Given the description of an element on the screen output the (x, y) to click on. 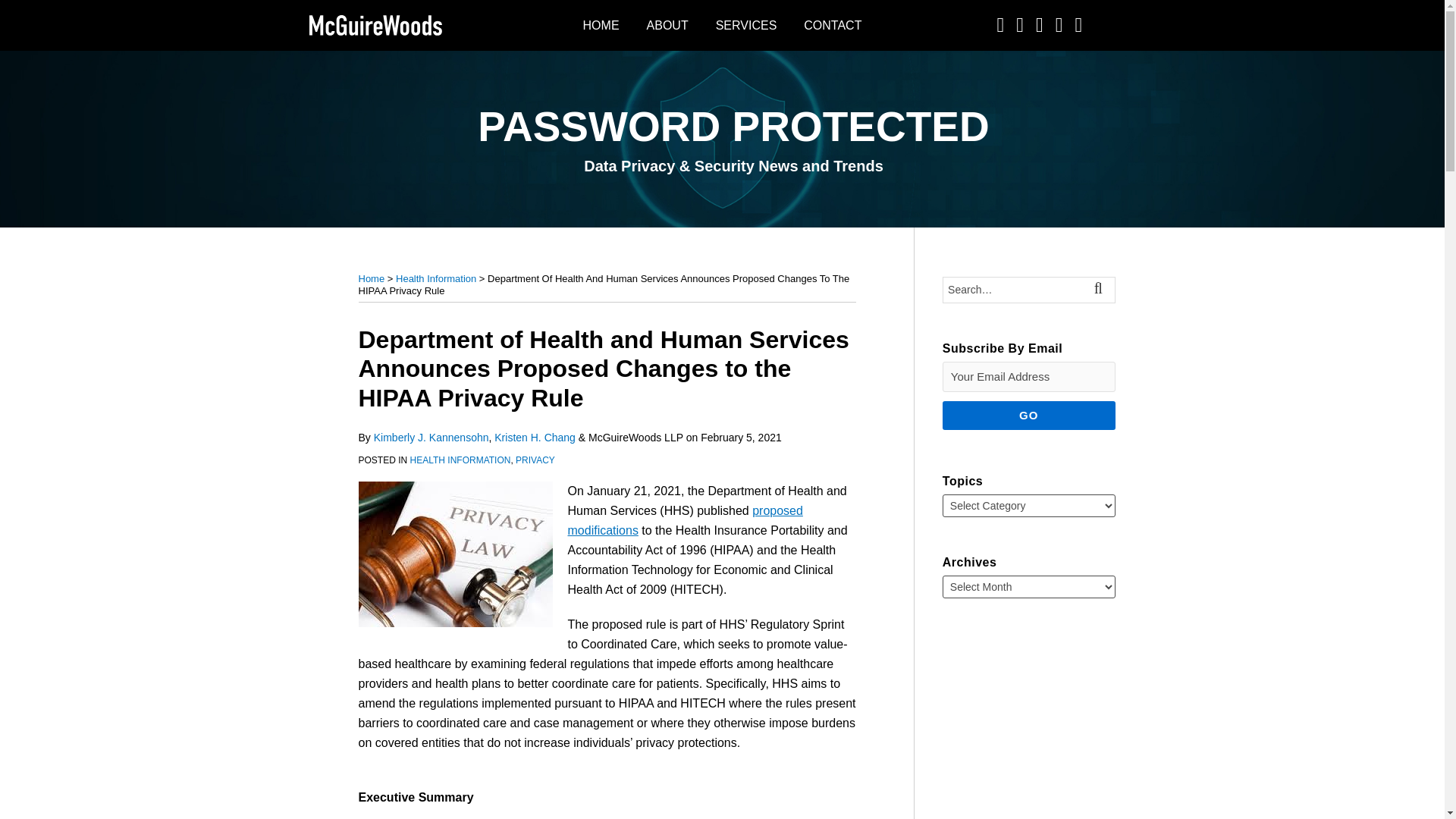
PRIVACY (534, 460)
Kristen H. Chang (535, 437)
proposed modifications (684, 520)
SERVICES (746, 25)
Home (371, 278)
HEALTH INFORMATION (460, 460)
Health Information (436, 278)
ABOUT (667, 25)
Kimberly J. Kannensohn (431, 437)
CONTACT (832, 25)
